Given the description of an element on the screen output the (x, y) to click on. 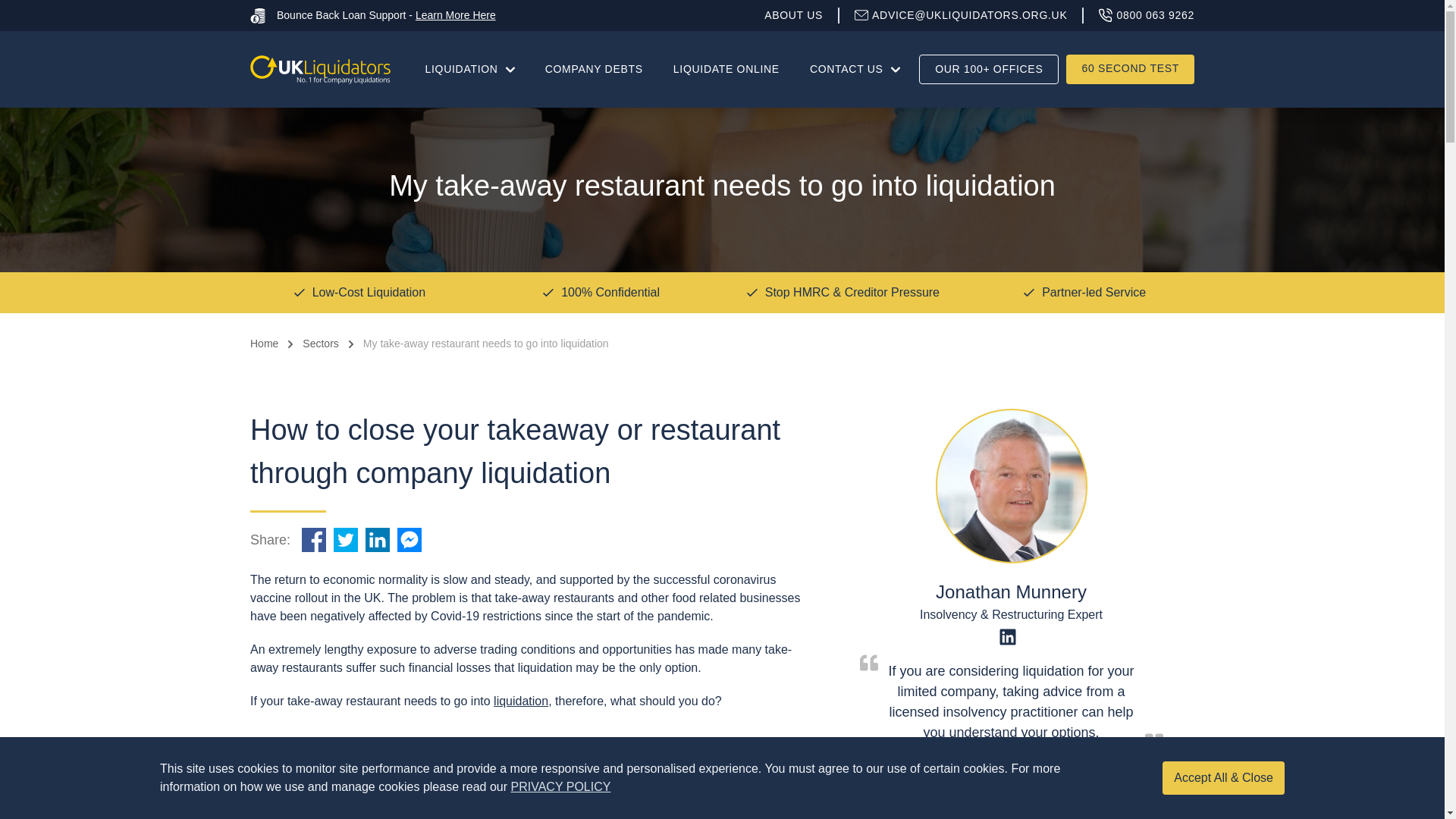
0800 063 9262 (1146, 15)
Share via LinkedIn (377, 539)
Share via Twitter (345, 539)
Share via Facebook (314, 539)
LIQUIDATION (469, 69)
Learn More Here (455, 15)
Share via Messenger (409, 539)
ABOUT US (802, 15)
UK Liquidators (320, 68)
